Given the description of an element on the screen output the (x, y) to click on. 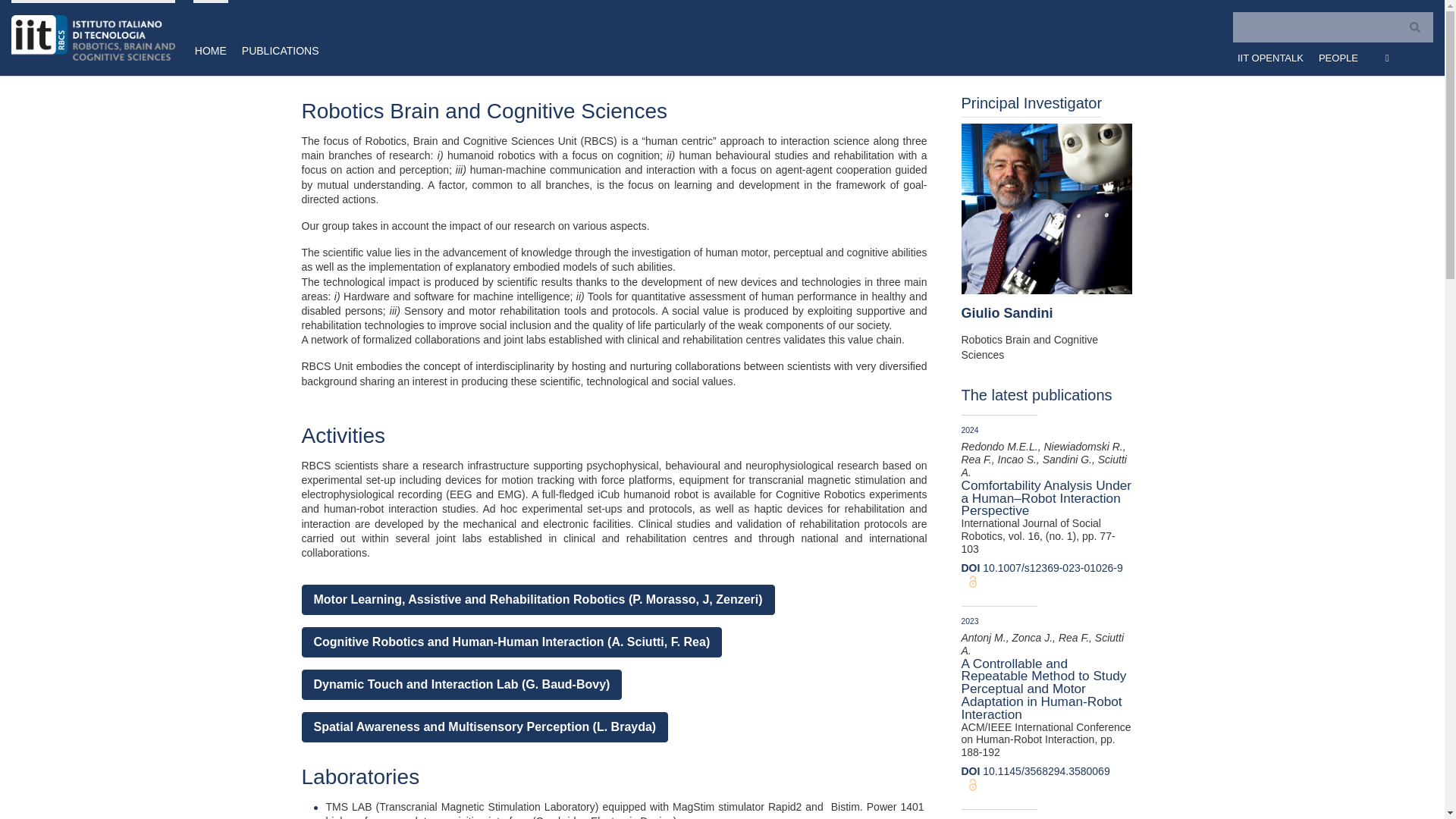
IIT OPENTALK (1270, 56)
PUBLICATIONS (276, 38)
PEOPLE (1338, 56)
